Given the description of an element on the screen output the (x, y) to click on. 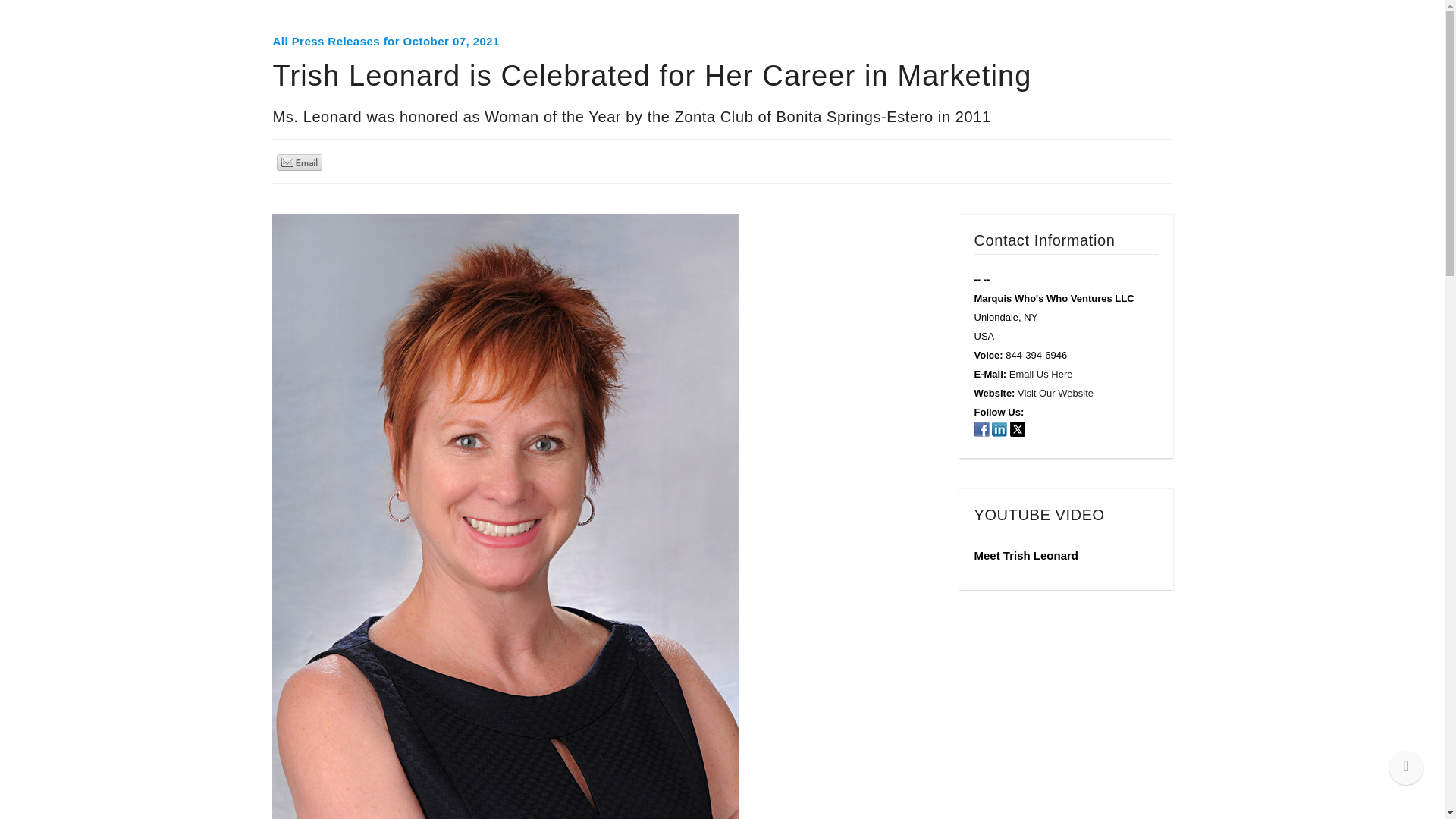
All Press Releases for October 07, 2021 (386, 41)
Email Us Here (1041, 374)
Visit Our Website (1055, 392)
